Given the description of an element on the screen output the (x, y) to click on. 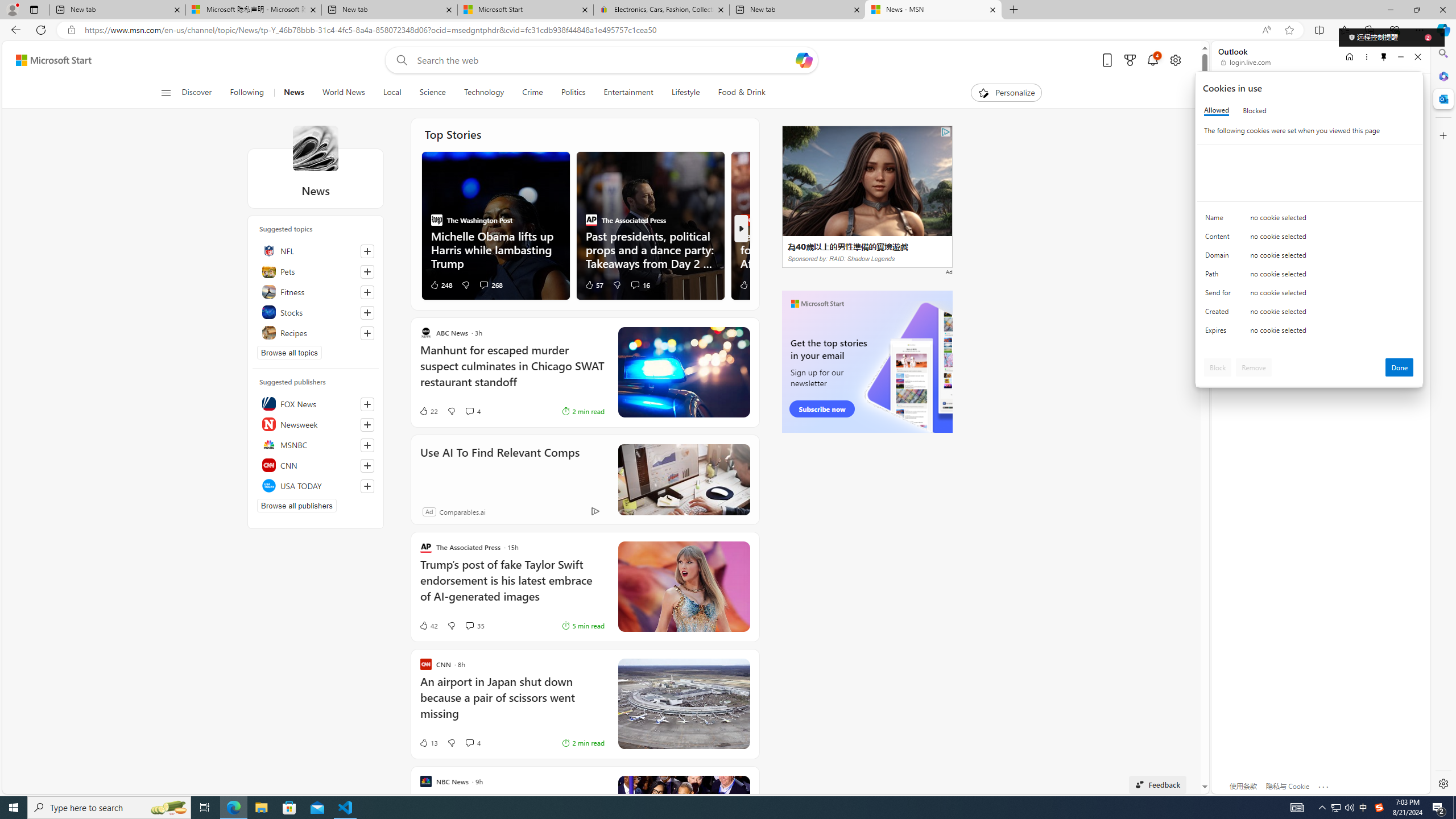
Skip to content (49, 59)
Done (1399, 367)
Expires (1219, 332)
Follow this source (367, 486)
Politics (573, 92)
View comments 4 Comment (469, 741)
Entertainment (628, 92)
Class: button-glyph (165, 92)
Subscribe now (821, 408)
Stocks (315, 311)
Outlook (1442, 98)
